Given the description of an element on the screen output the (x, y) to click on. 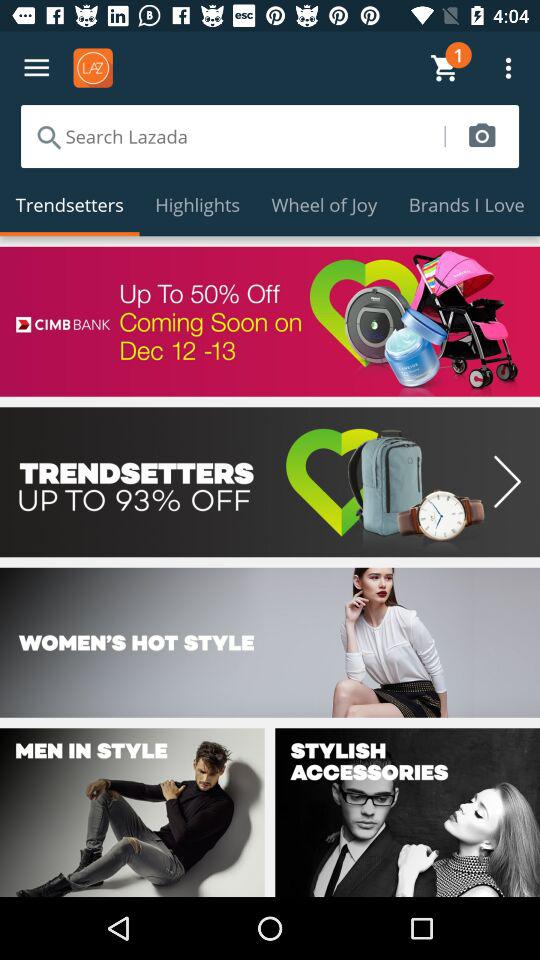
advertisement for cimb bank (270, 321)
